Given the description of an element on the screen output the (x, y) to click on. 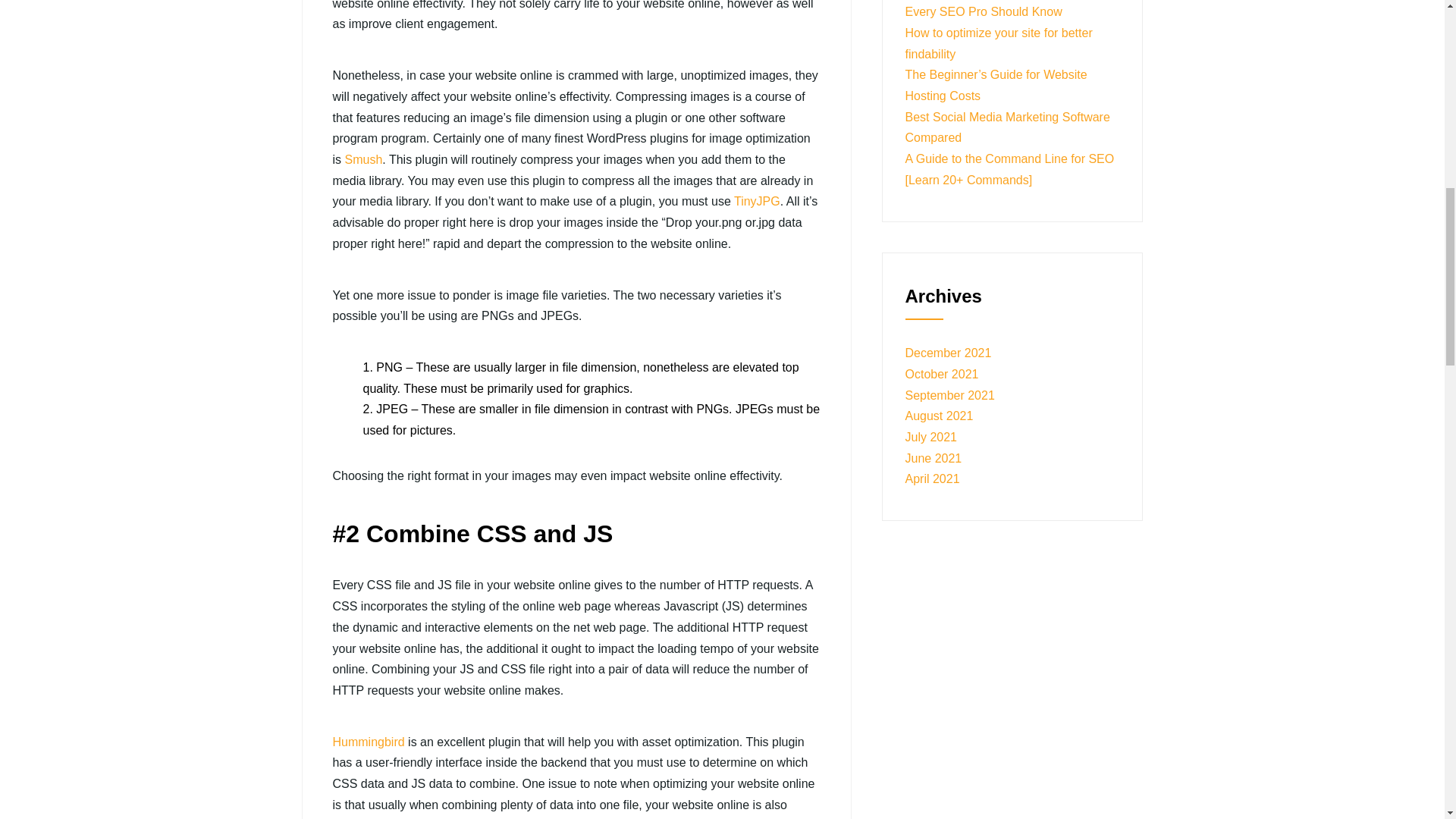
Smush (362, 159)
TinyJPG (756, 201)
Hummingbird (369, 741)
